Given the description of an element on the screen output the (x, y) to click on. 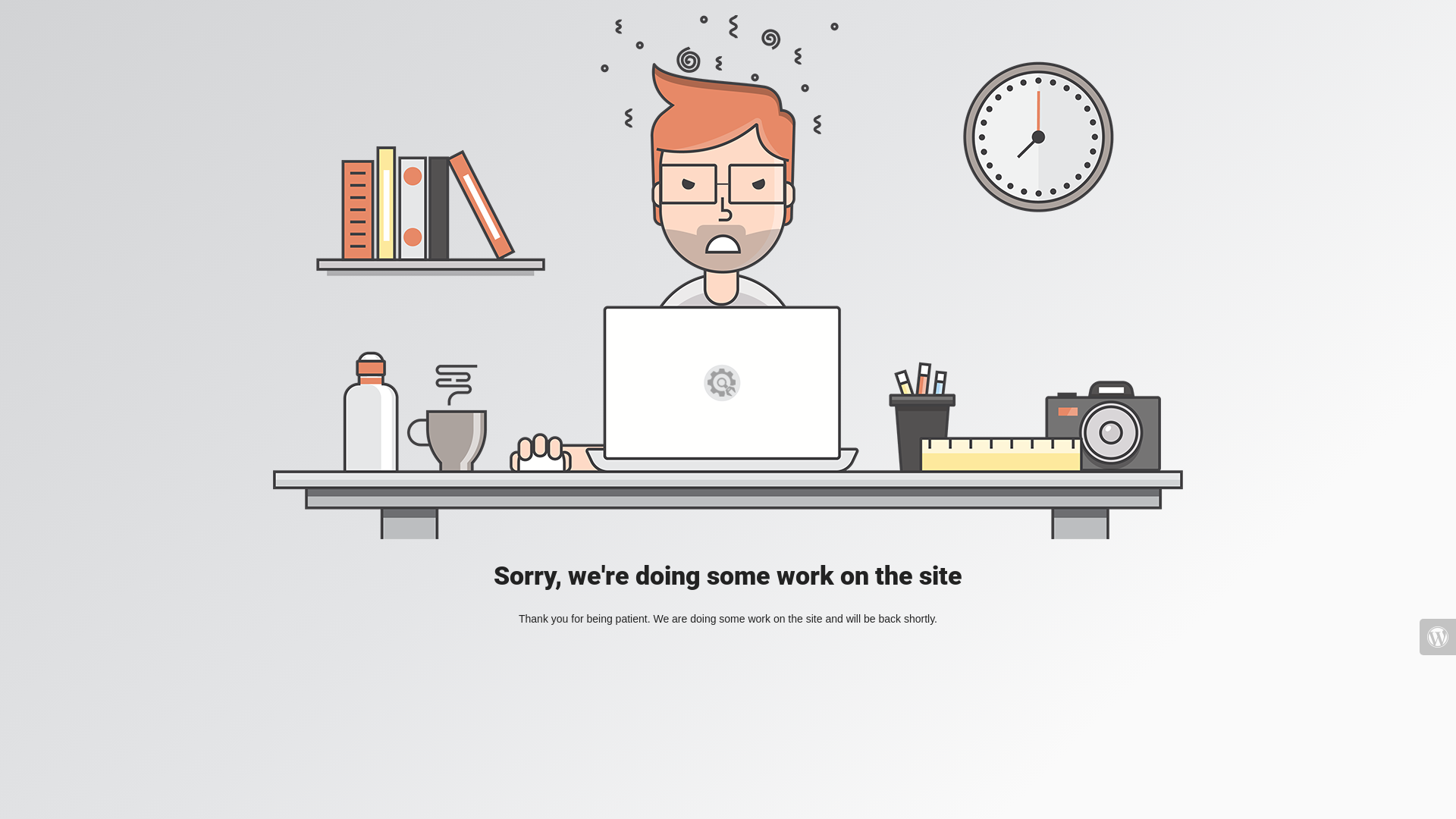
Mad Designer at work Element type: hover (728, 277)
